Given the description of an element on the screen output the (x, y) to click on. 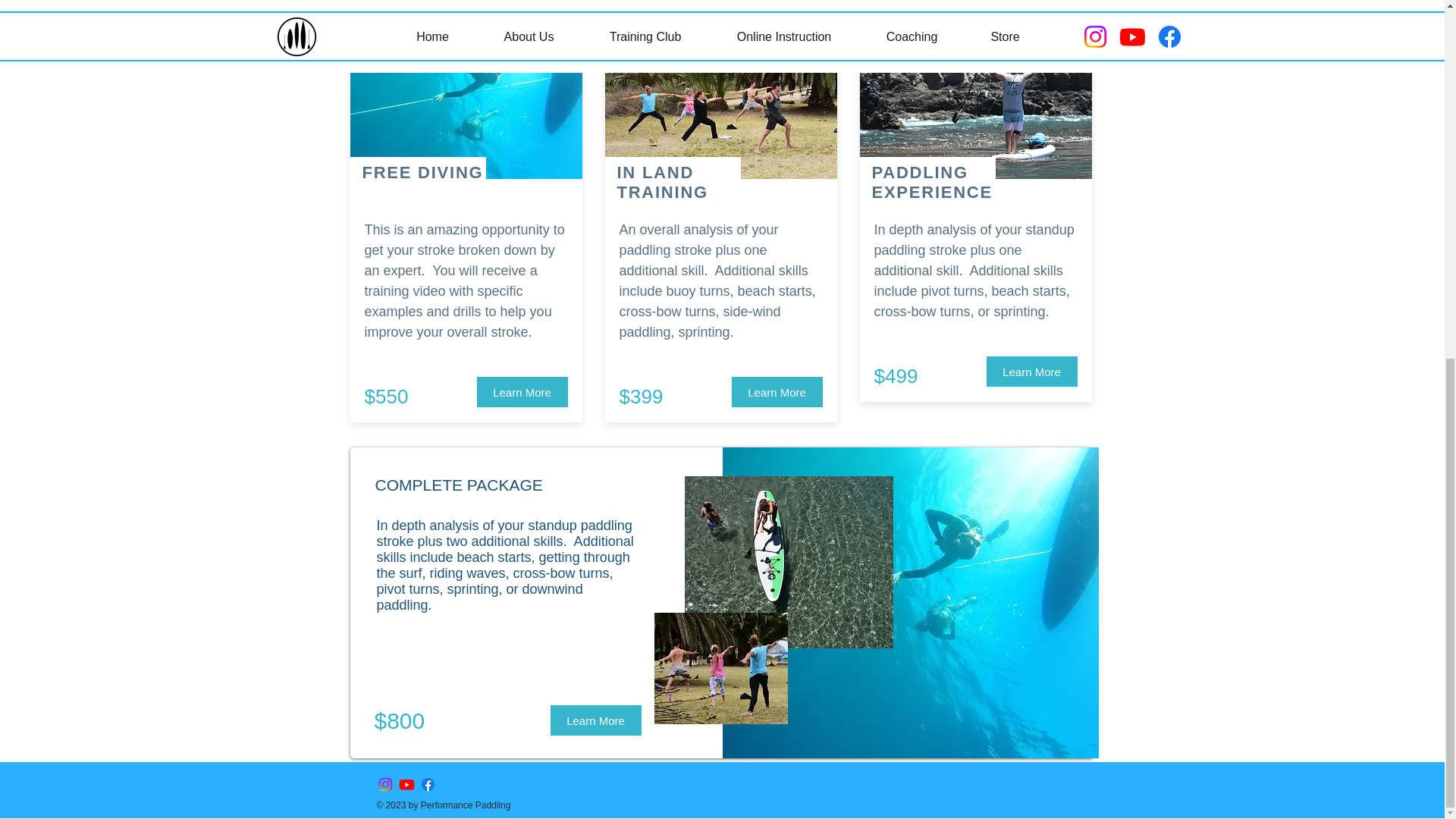
Learn More (776, 391)
Learn More (521, 391)
Learn More (1031, 371)
Learn More (596, 720)
